Given the description of an element on the screen output the (x, y) to click on. 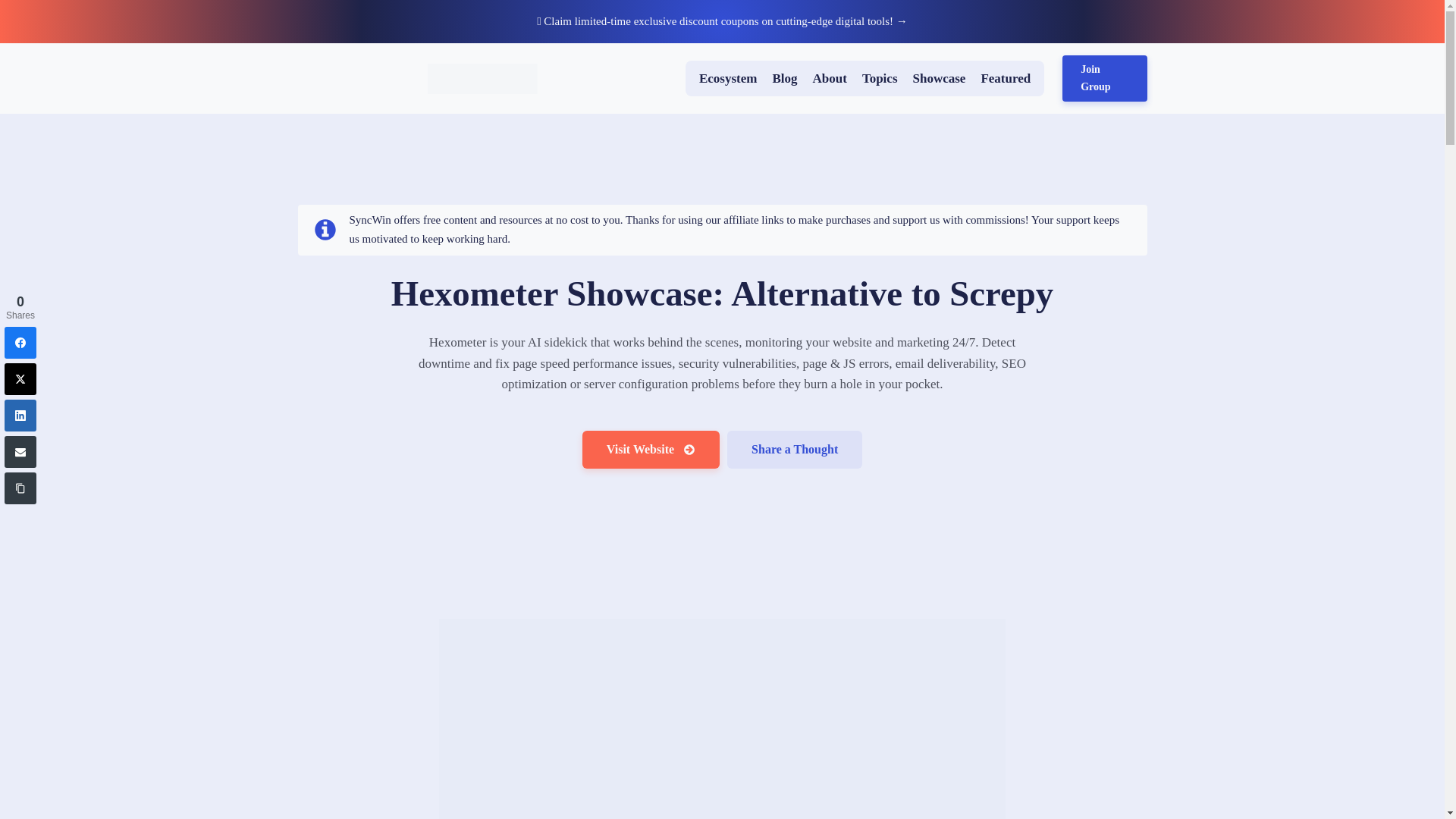
Ecosystem (727, 78)
Topics (879, 78)
About (829, 78)
